Given the description of an element on the screen output the (x, y) to click on. 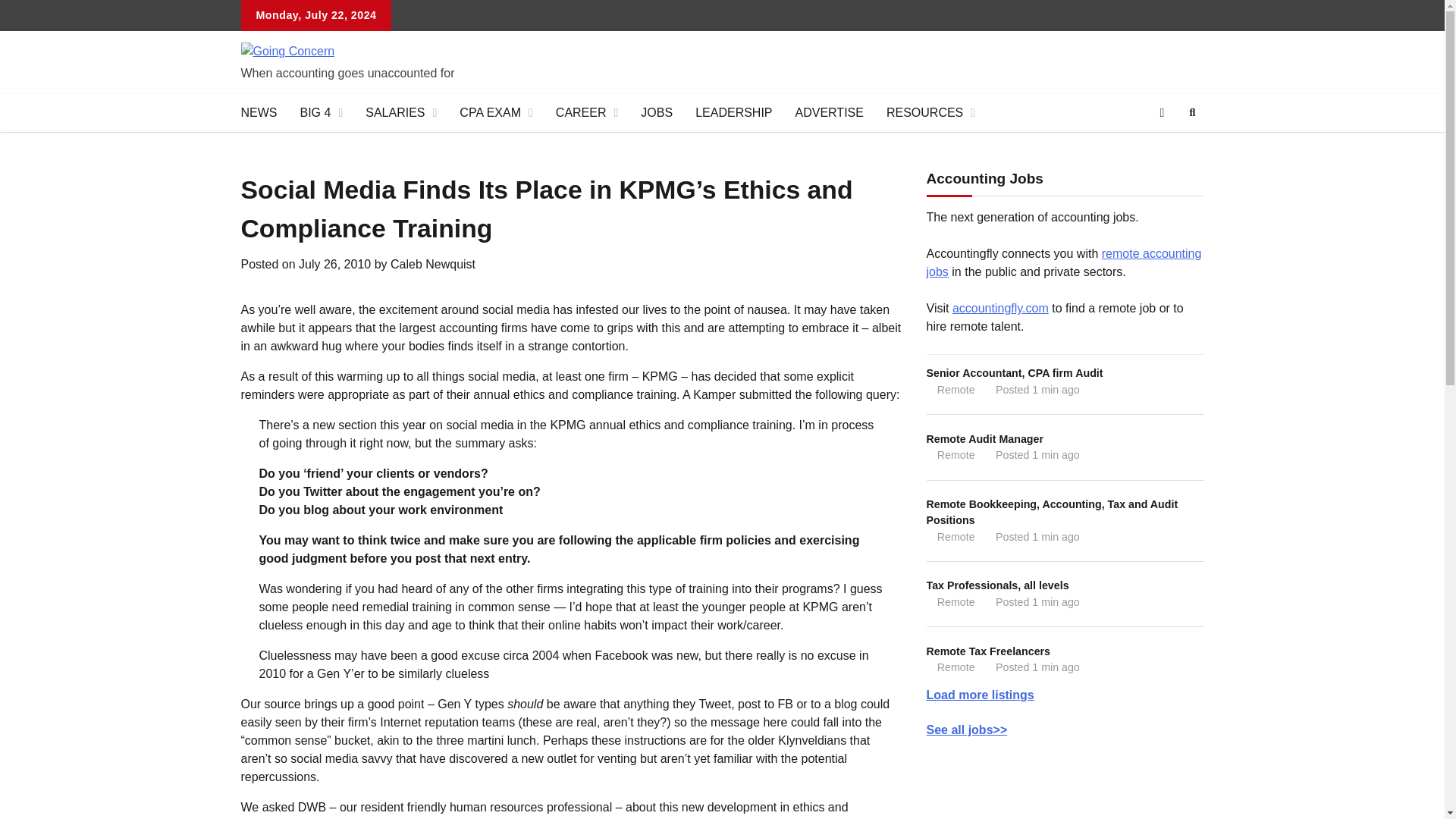
CAREER (587, 112)
JOBS (656, 112)
Search (1164, 148)
CPA EXAM (495, 112)
BIG 4 (320, 112)
RESOURCES (931, 112)
NEWS (258, 112)
July 26, 2010 (334, 264)
View Random Post (1162, 112)
LEADERSHIP (733, 112)
Search (1192, 112)
Caleb Newquist (433, 264)
ADVERTISE (829, 112)
SALARIES (400, 112)
